Given the description of an element on the screen output the (x, y) to click on. 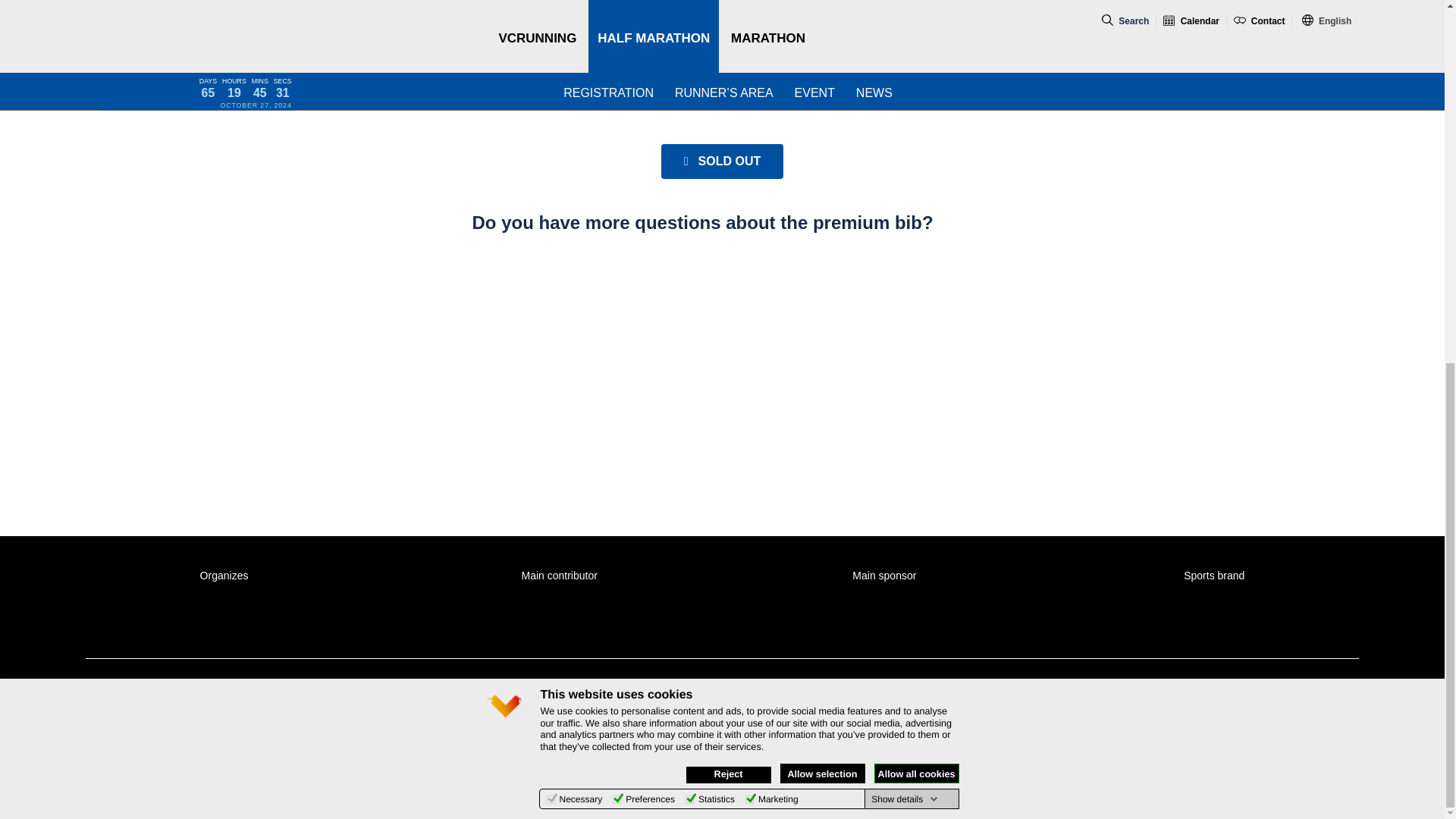
Allow selection (821, 125)
Reject (727, 126)
Show details (903, 150)
Allow all cookies (915, 125)
